Given the description of an element on the screen output the (x, y) to click on. 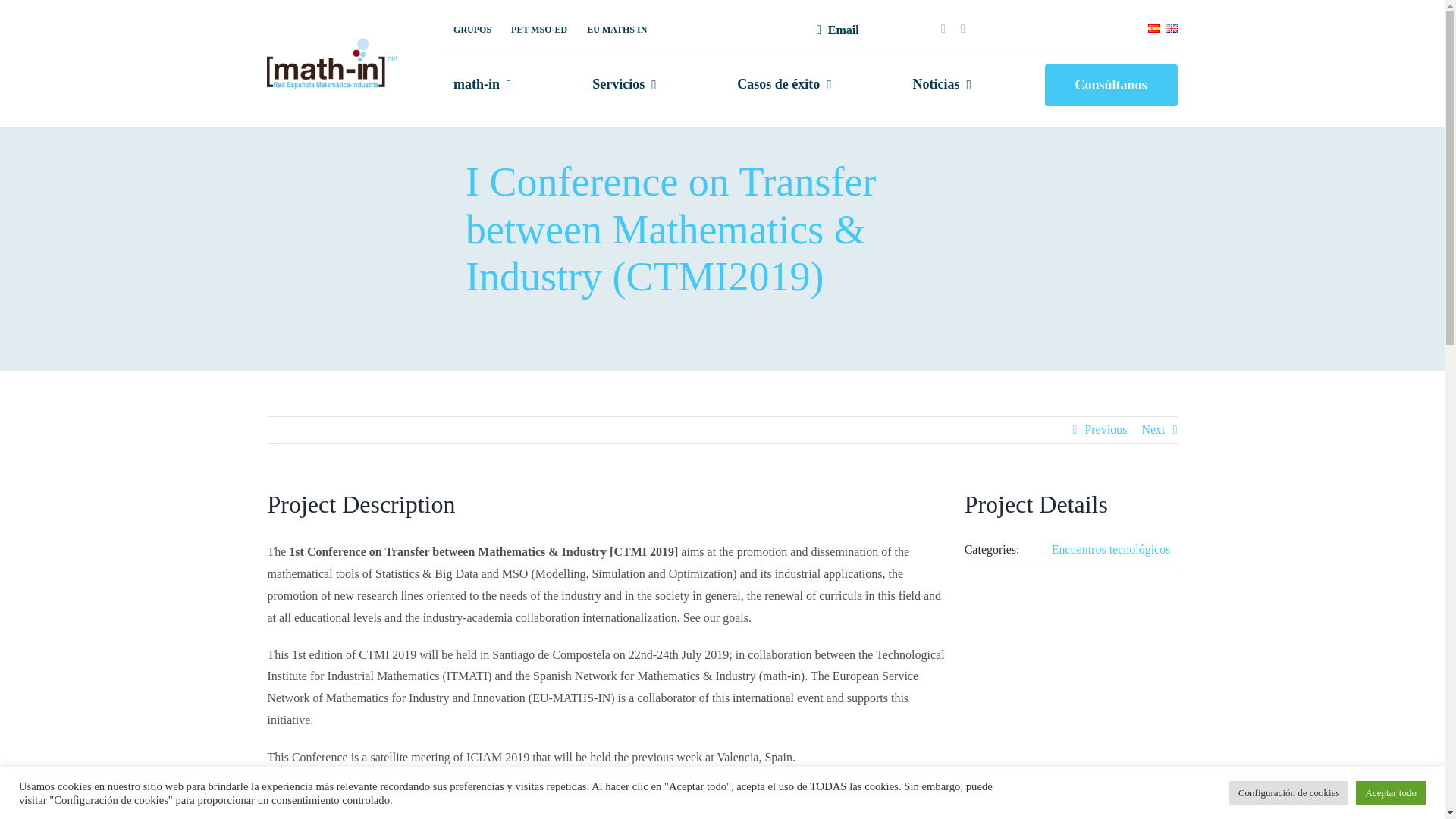
Email (834, 30)
PET MSO-ED (539, 30)
Servicios (624, 85)
GRUPOS (472, 30)
math-in (482, 85)
EU MATHS IN (616, 30)
Noticias (941, 85)
